Given the description of an element on the screen output the (x, y) to click on. 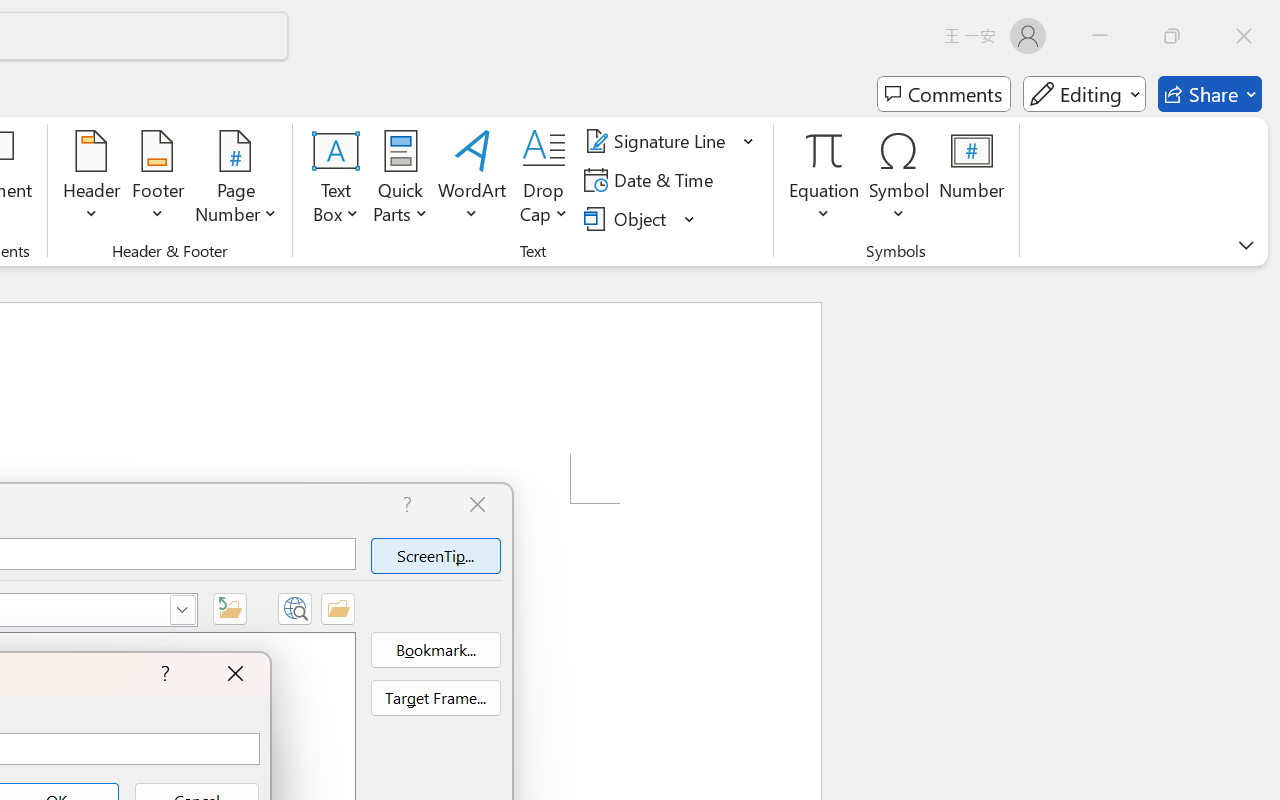
Text Box (335, 179)
Quick Parts (400, 179)
Equation (823, 150)
ScreenTip... (435, 555)
Mode (1083, 94)
Minimize (1099, 36)
Ribbon Display Options (1246, 245)
Browse for File (337, 608)
Browse the Web (294, 608)
Signature Line (658, 141)
Footer (157, 179)
Object... (628, 218)
Object... (640, 218)
